Given the description of an element on the screen output the (x, y) to click on. 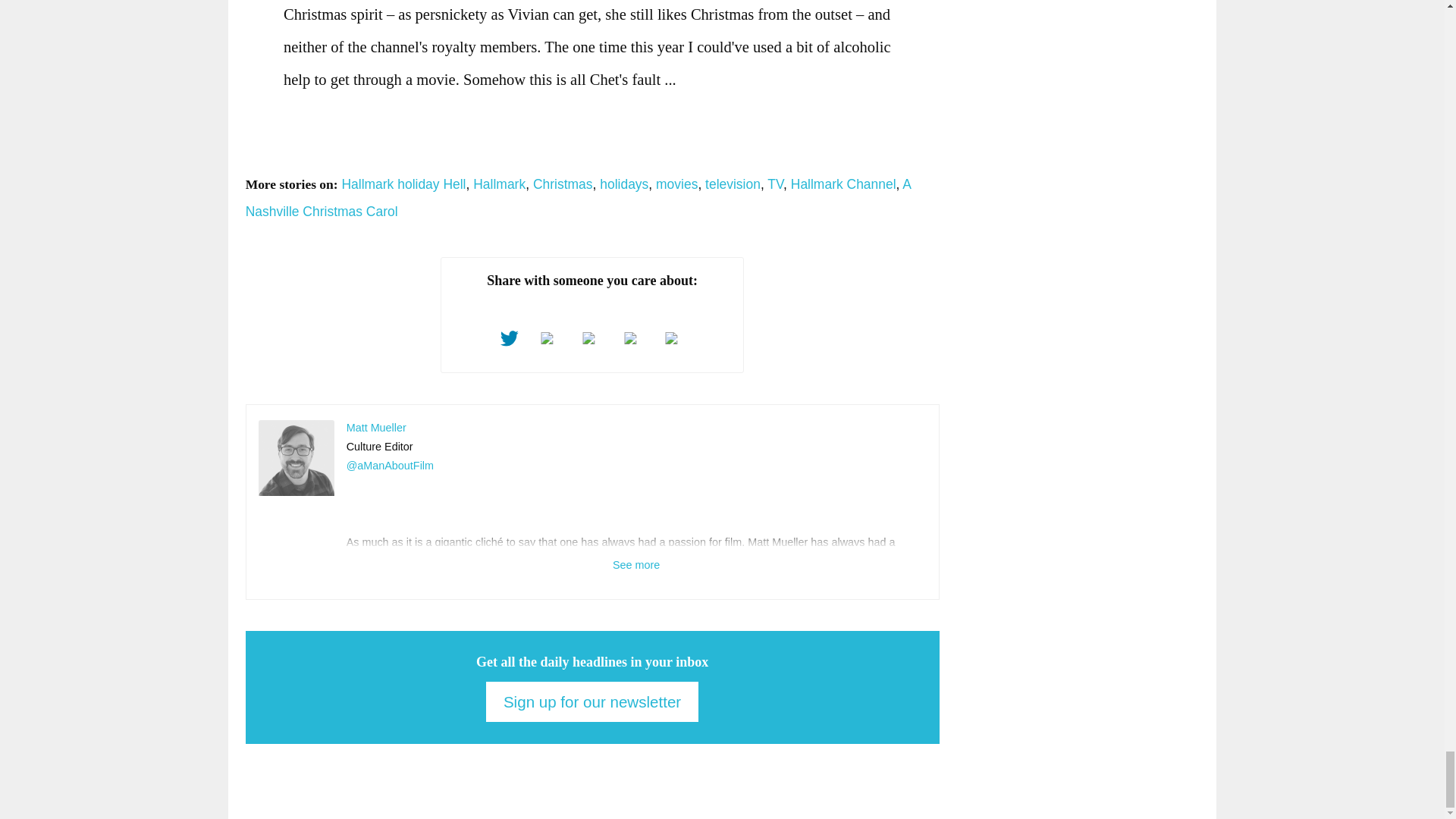
Christmas (562, 183)
More articles by Matt Mueller (376, 427)
holidays (623, 183)
A Nashville Christmas Carol (578, 198)
television (732, 183)
Hallmark (499, 183)
TV (775, 183)
